Given the description of an element on the screen output the (x, y) to click on. 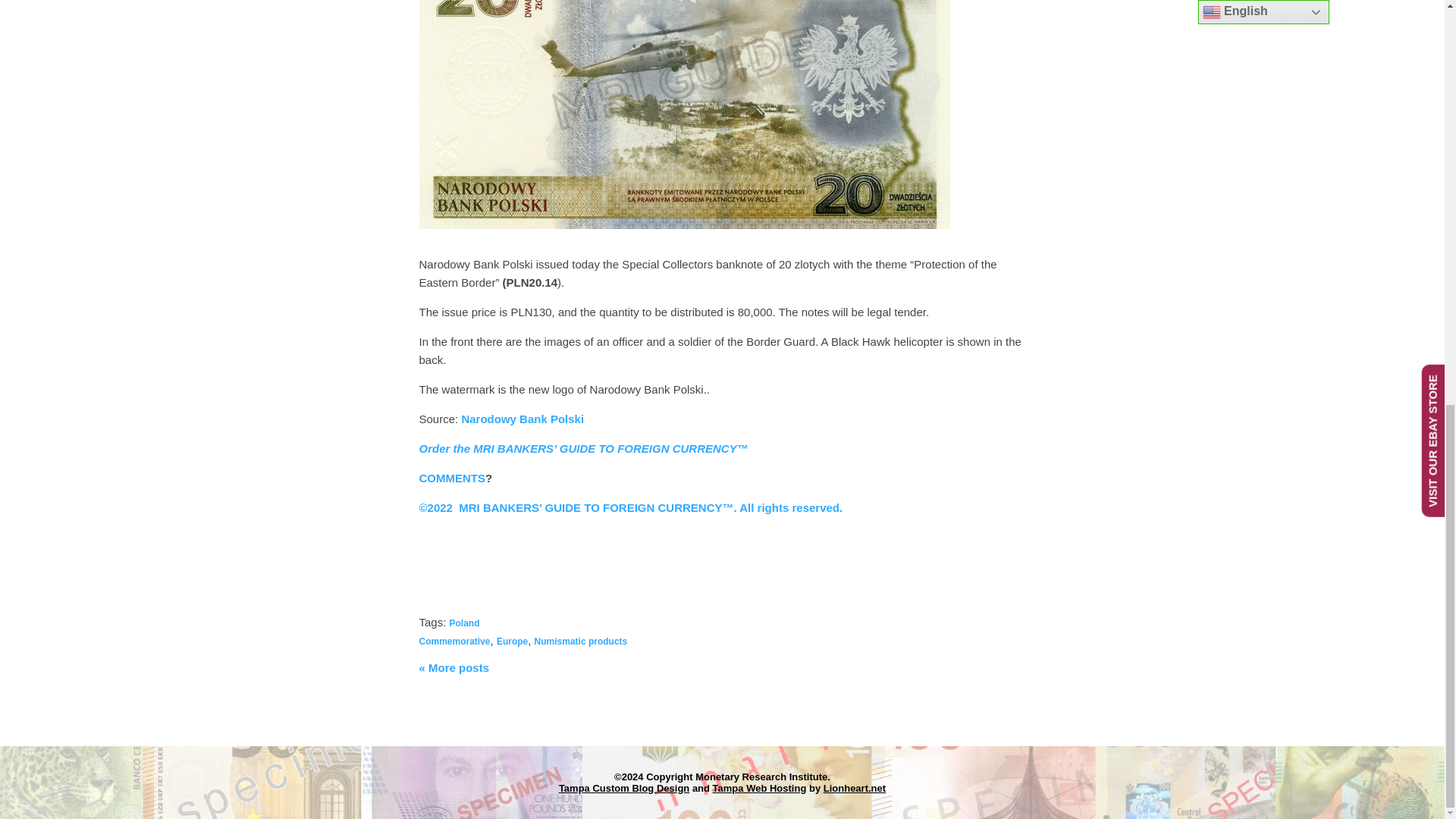
Poland (464, 622)
Europe (511, 640)
Lionheart.net (854, 787)
COMMENTS (451, 477)
Order the MRI (456, 447)
Narodowy Bank Polski (522, 418)
Commemorative (454, 640)
Tampa Custom Blog Design (623, 787)
Page 1 (722, 448)
Numismatic products (580, 640)
Tampa Web Hosting (759, 787)
